Given the description of an element on the screen output the (x, y) to click on. 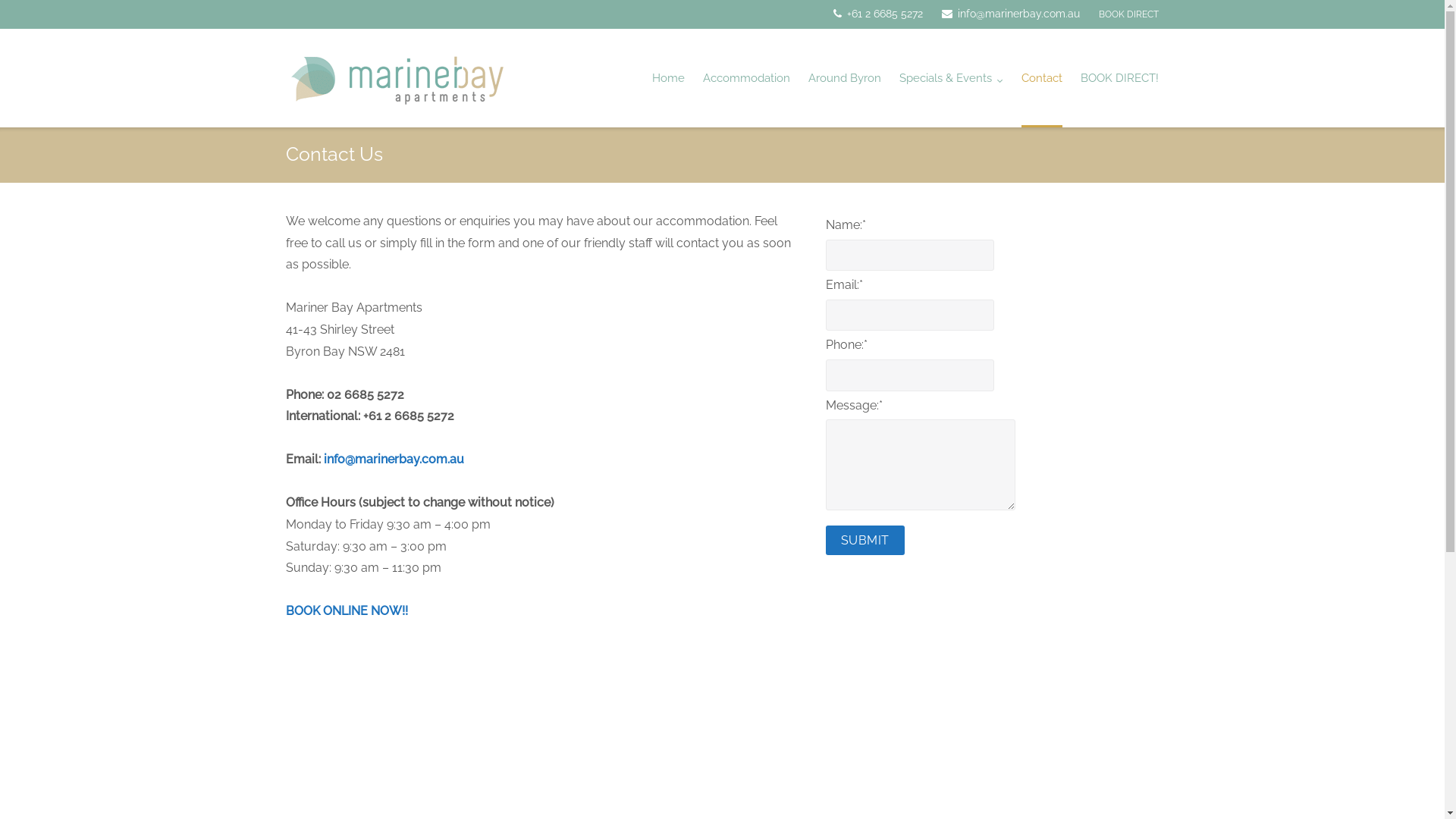
BOOK DIRECT! Element type: text (1119, 77)
Around Byron Element type: text (844, 77)
Submit Element type: text (864, 540)
BOOK DIRECT Element type: text (1128, 14)
Accommodation Element type: text (746, 77)
Home Element type: text (668, 77)
Specials & Events Element type: text (950, 77)
BOOK ONLINE NOW!! Element type: text (346, 610)
info@marinerbay.com.au Element type: text (393, 458)
Contact Element type: text (1041, 77)
+61 2 6685 5272 Element type: text (877, 13)
info@marinerbay.com.au Element type: text (1010, 13)
